Given the description of an element on the screen output the (x, y) to click on. 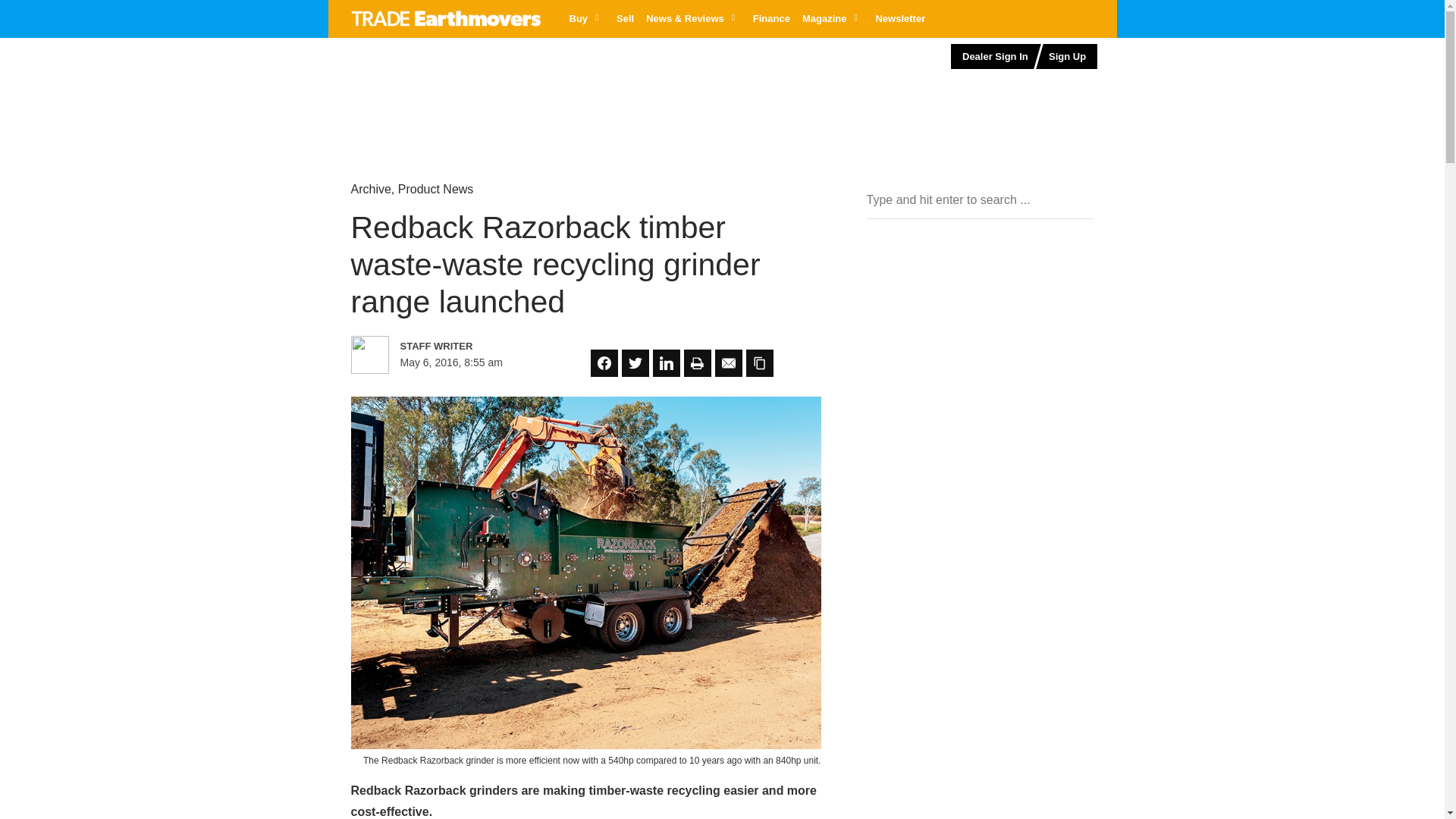
Type and hit enter to search ... (979, 200)
View all posts by Staff Writer (465, 345)
Buy (586, 18)
Share on Facebook (604, 362)
Type and hit enter to search ... (979, 200)
Share on LinkedIn (665, 362)
Share on Twitter (635, 362)
Share on Print (697, 362)
Share on Copy Link (759, 362)
3rd party ad content (459, 87)
